Given the description of an element on the screen output the (x, y) to click on. 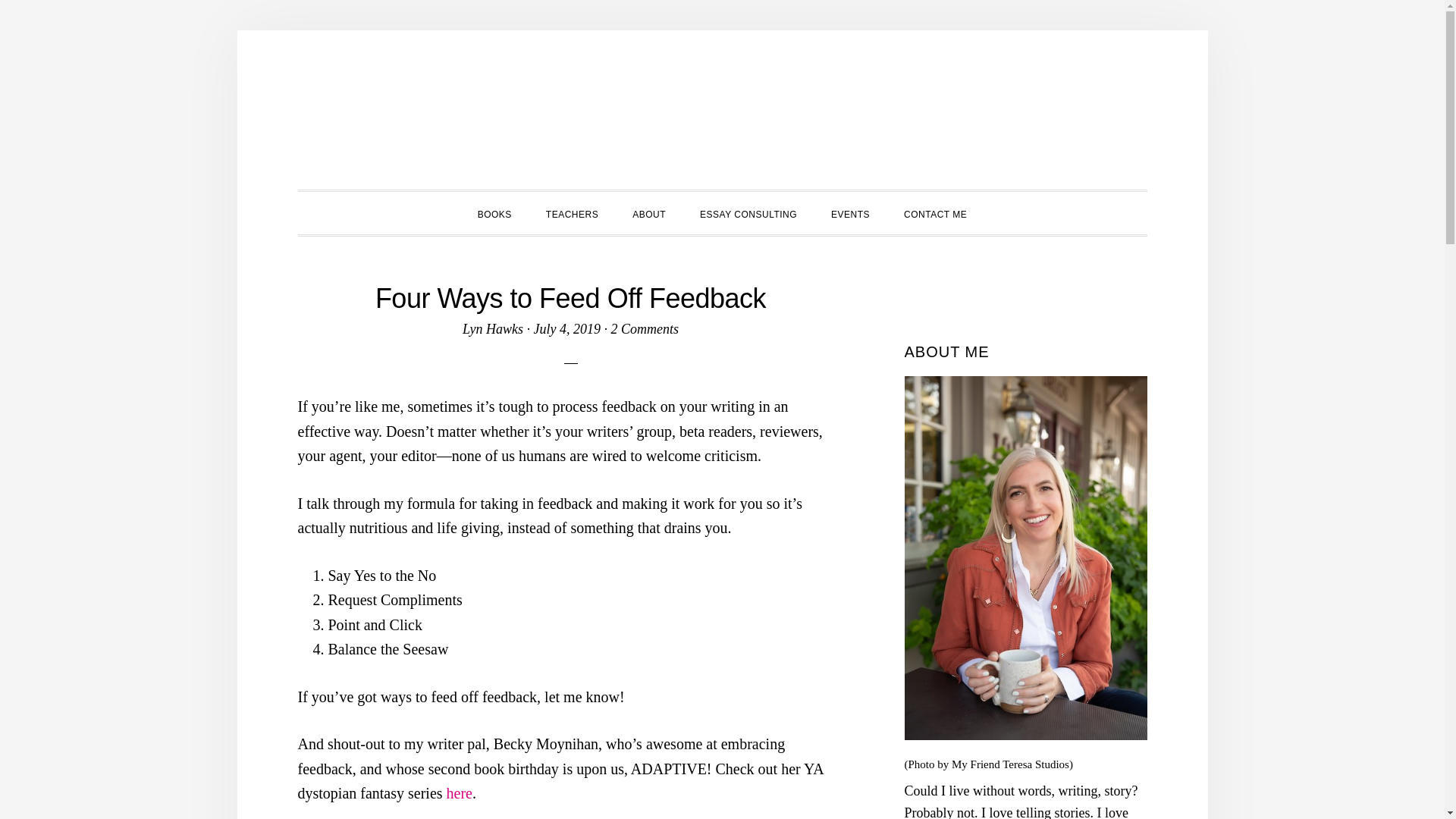
here (458, 792)
ABOUT (649, 212)
EVENTS (850, 212)
Lyn Hawks (492, 328)
CONTACT ME (934, 212)
ESSAY CONSULTING (748, 212)
TEACHERS (571, 212)
BOOKS (495, 212)
2 Comments (644, 328)
